Given the description of an element on the screen output the (x, y) to click on. 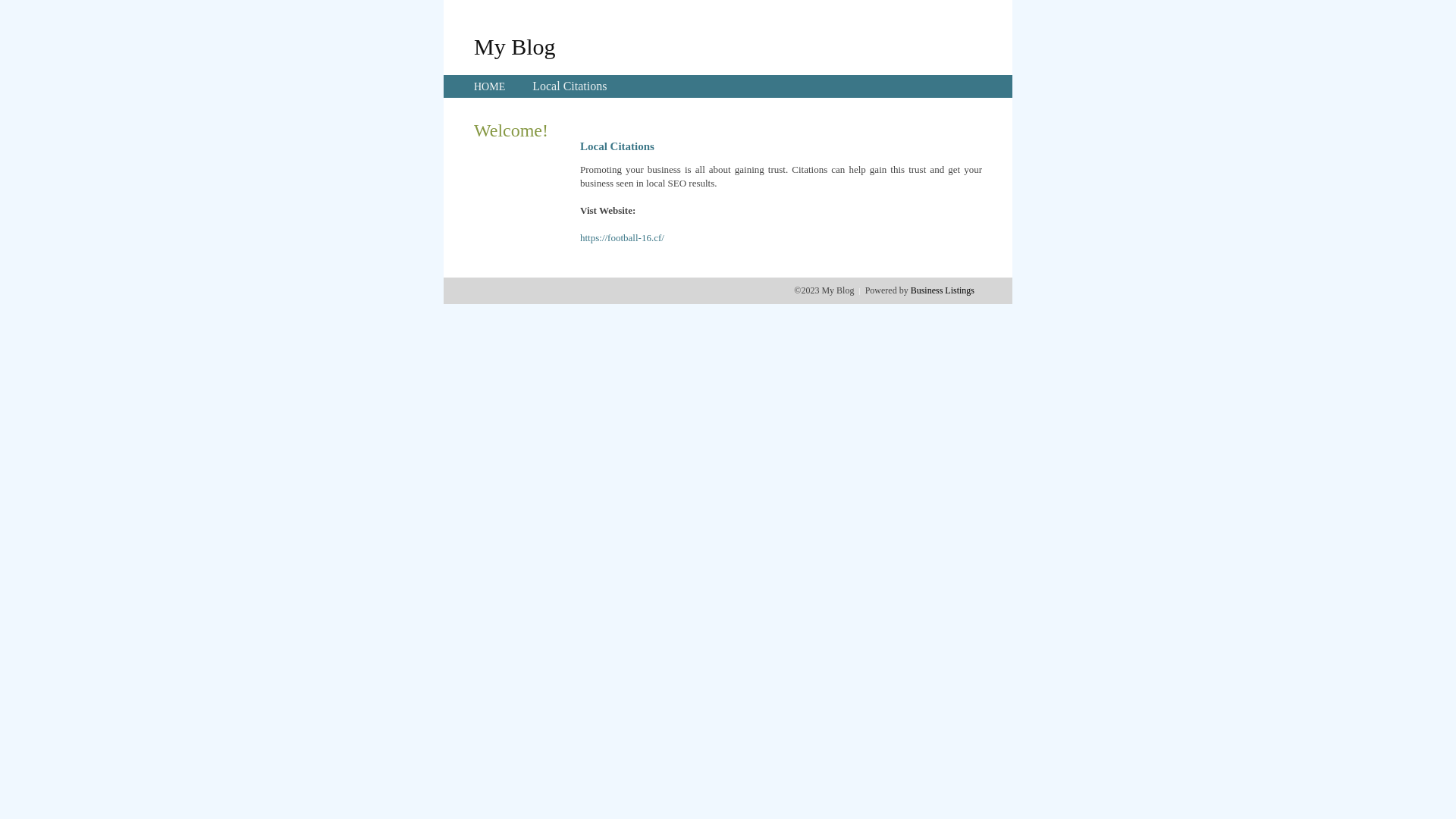
HOME Element type: text (489, 86)
Business Listings Element type: text (942, 290)
My Blog Element type: text (514, 46)
Local Citations Element type: text (569, 85)
https://football-16.cf/ Element type: text (622, 237)
